Given the description of an element on the screen output the (x, y) to click on. 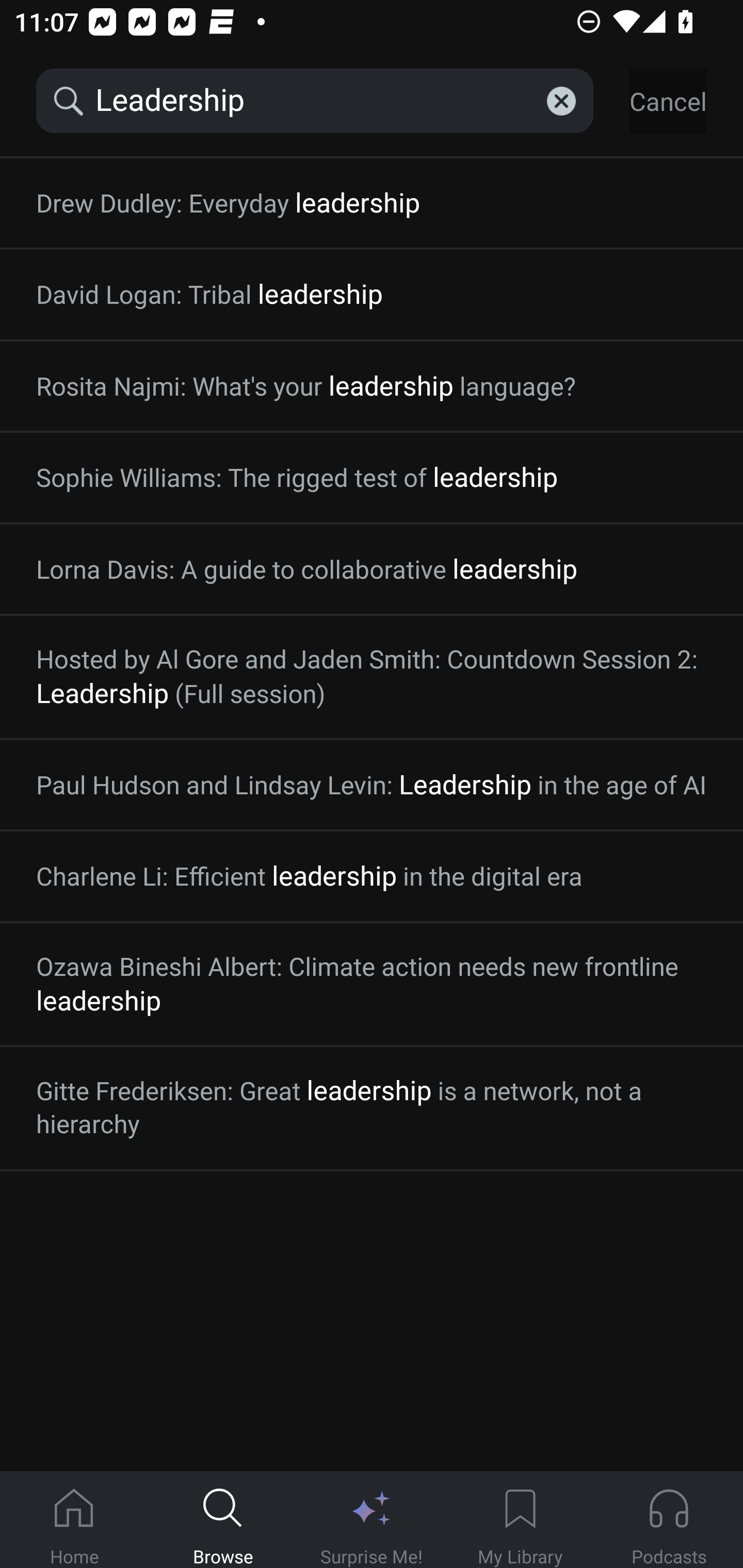
Leadership (314, 100)
Cancel (667, 100)
Drew Dudley: Everyday leadership (371, 202)
David Logan: Tribal leadership (371, 293)
Rosita Najmi: What's your leadership language? (371, 386)
Sophie Williams: The rigged test of leadership (371, 477)
Lorna Davis: A guide to collaborative leadership (371, 569)
Home (74, 1520)
Browse (222, 1520)
Surprise Me! (371, 1520)
My Library (519, 1520)
Podcasts (668, 1520)
